Given the description of an element on the screen output the (x, y) to click on. 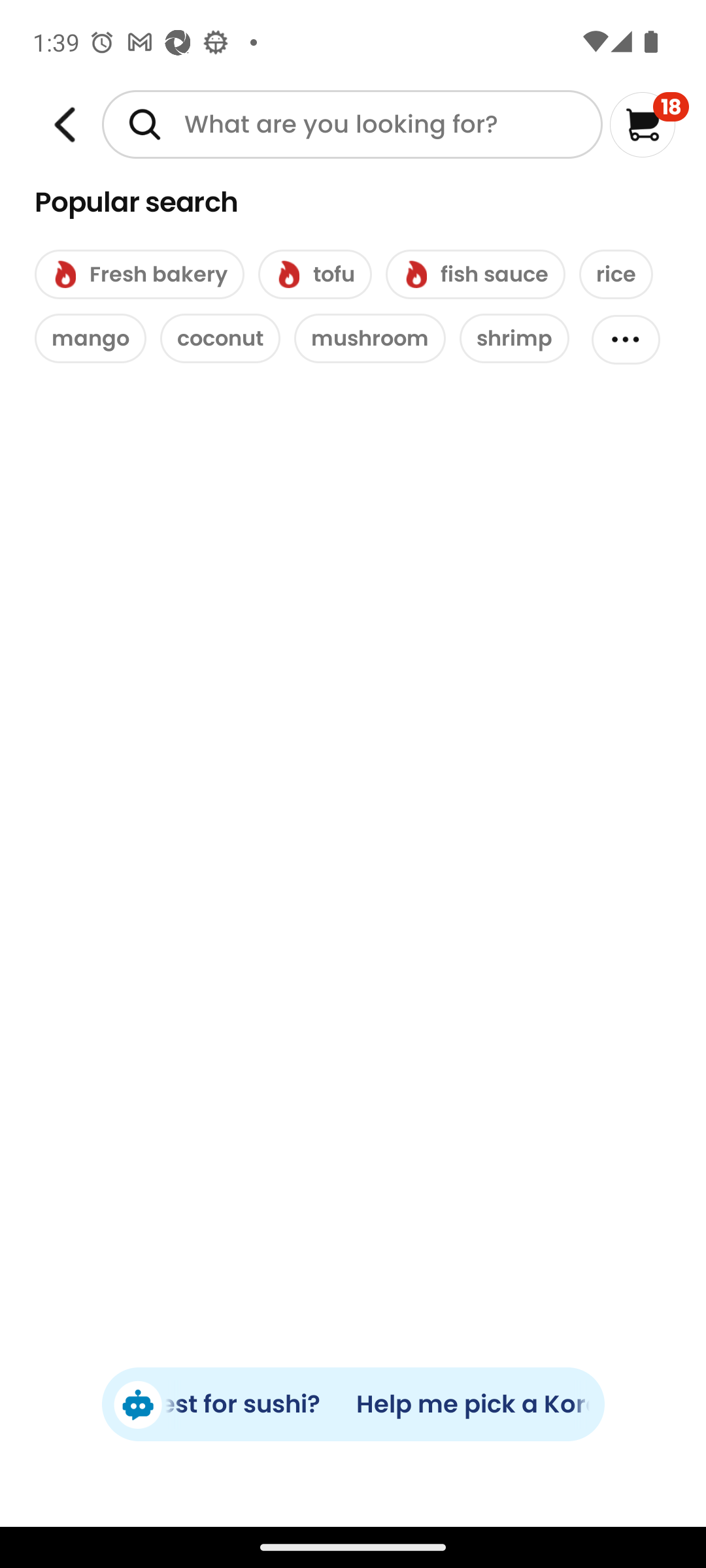
What are you looking for? (351, 124)
18 (649, 124)
Fresh bakery (139, 274)
tofu (315, 274)
fish sauce (475, 274)
rice (615, 274)
mango (90, 338)
coconut (220, 338)
mushroom (369, 338)
shrimp (514, 338)
